Given the description of an element on the screen output the (x, y) to click on. 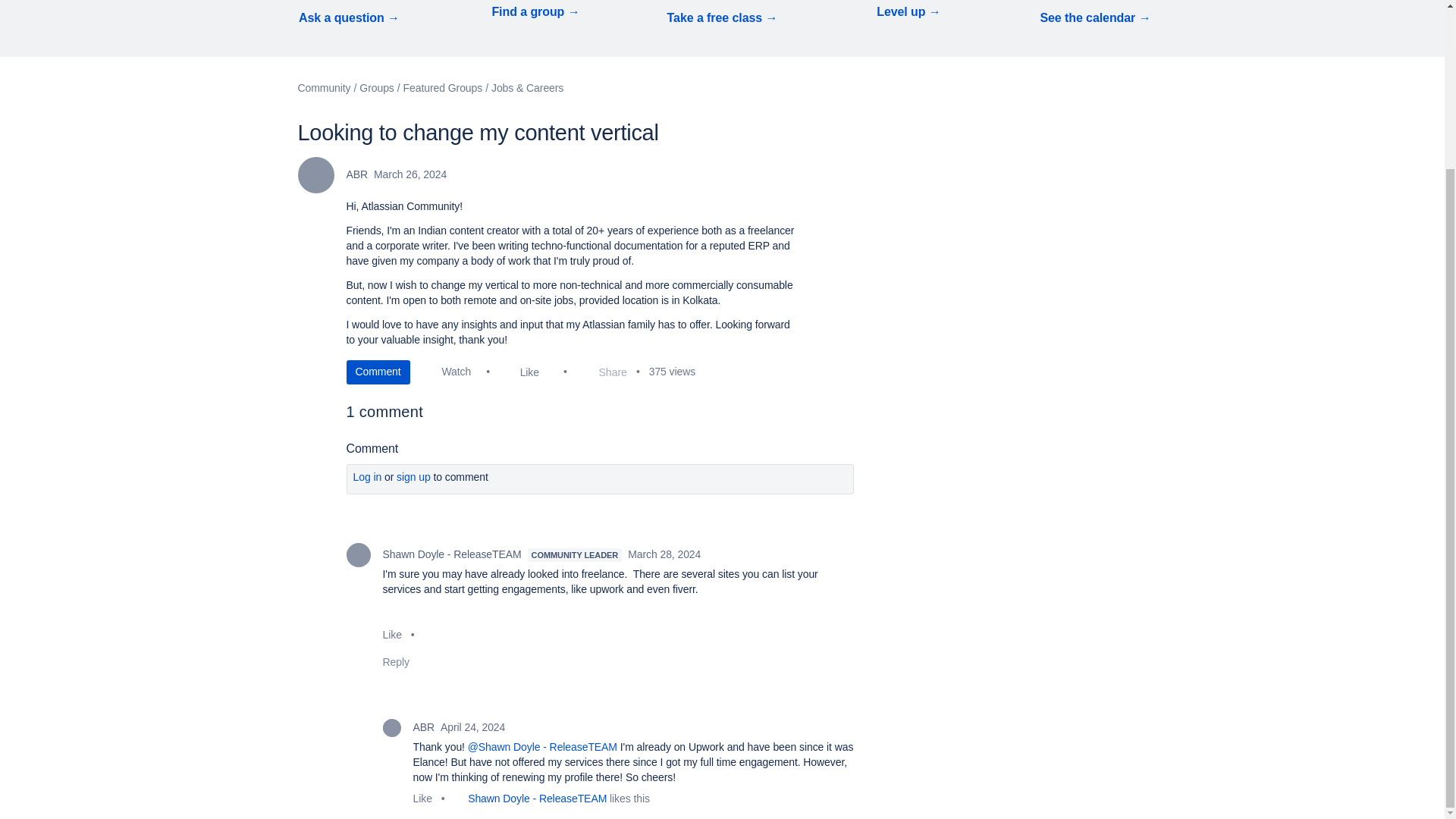
ABR (315, 175)
Shawn Doyle - ReleaseTEAM (357, 554)
ABR (390, 728)
